Given the description of an element on the screen output the (x, y) to click on. 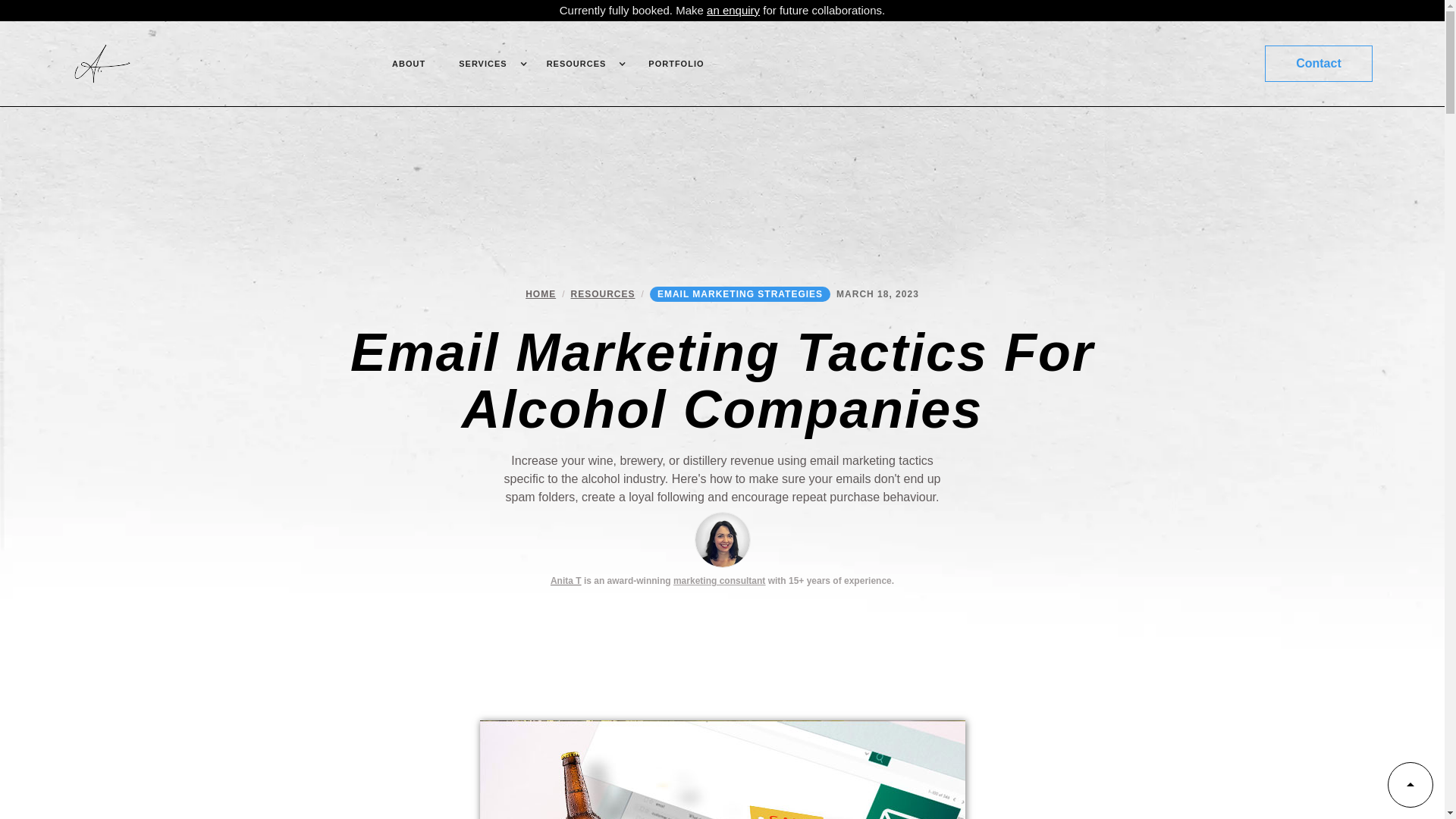
PORTFOLIO (676, 63)
an enquiry (733, 10)
ABOUT (409, 63)
Contact (1319, 63)
